Given the description of an element on the screen output the (x, y) to click on. 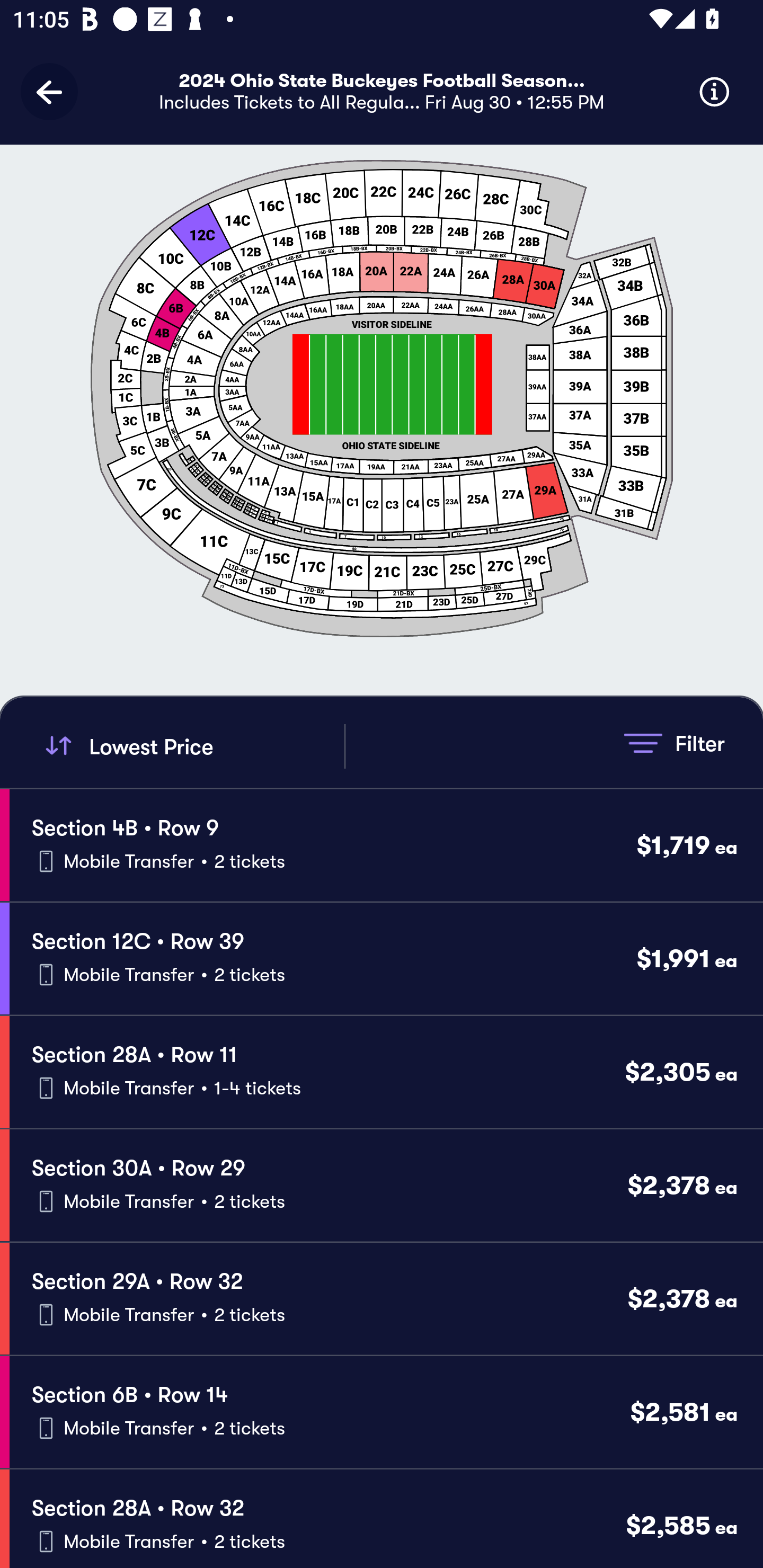
Lowest Price (191, 746)
Filter (674, 743)
